Given the description of an element on the screen output the (x, y) to click on. 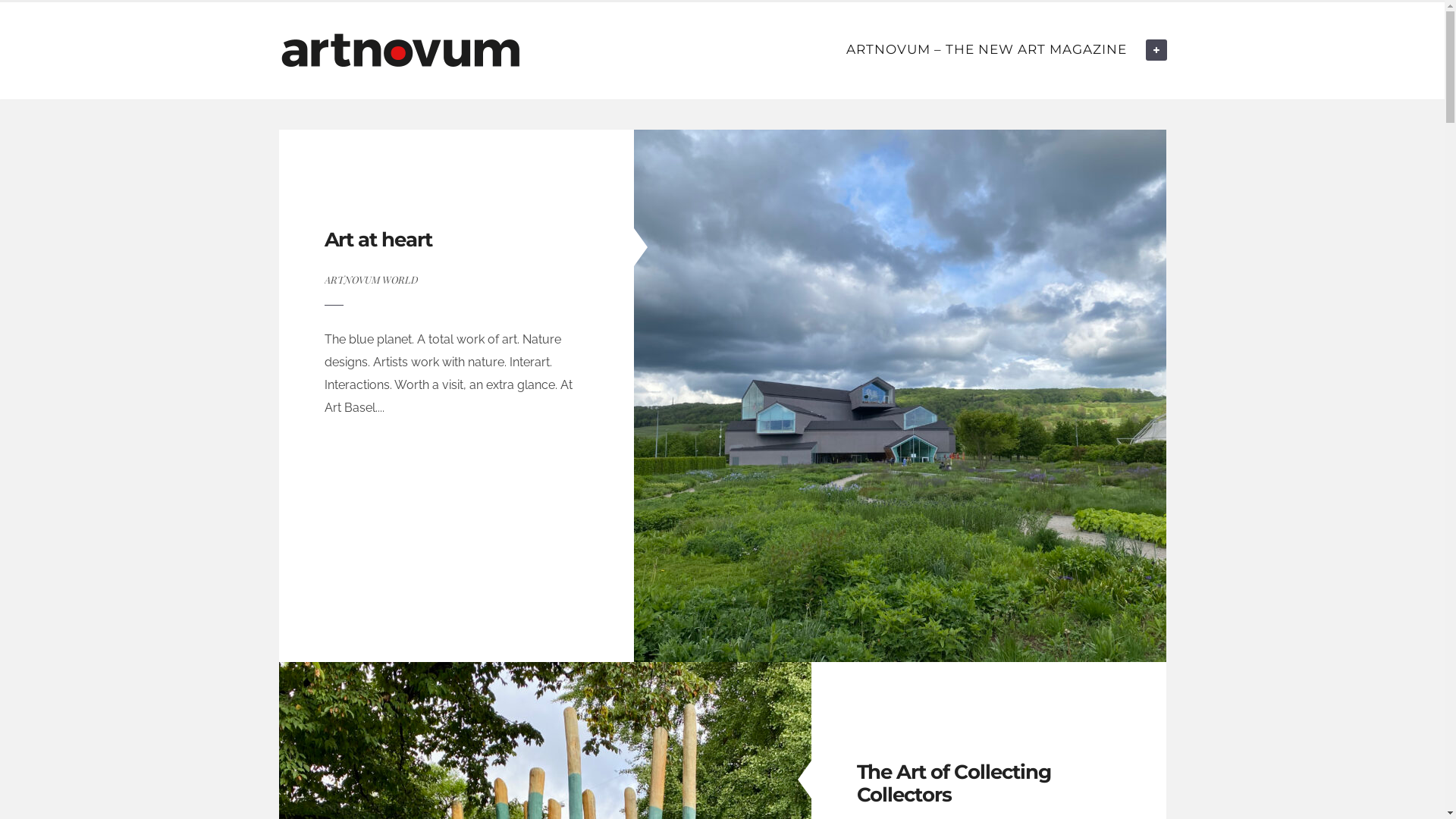
The Art of Collecting Collectors Element type: text (953, 782)
Art at heart Element type: text (378, 239)
ARTNOVUM WORLD Element type: text (370, 279)
